Given the description of an element on the screen output the (x, y) to click on. 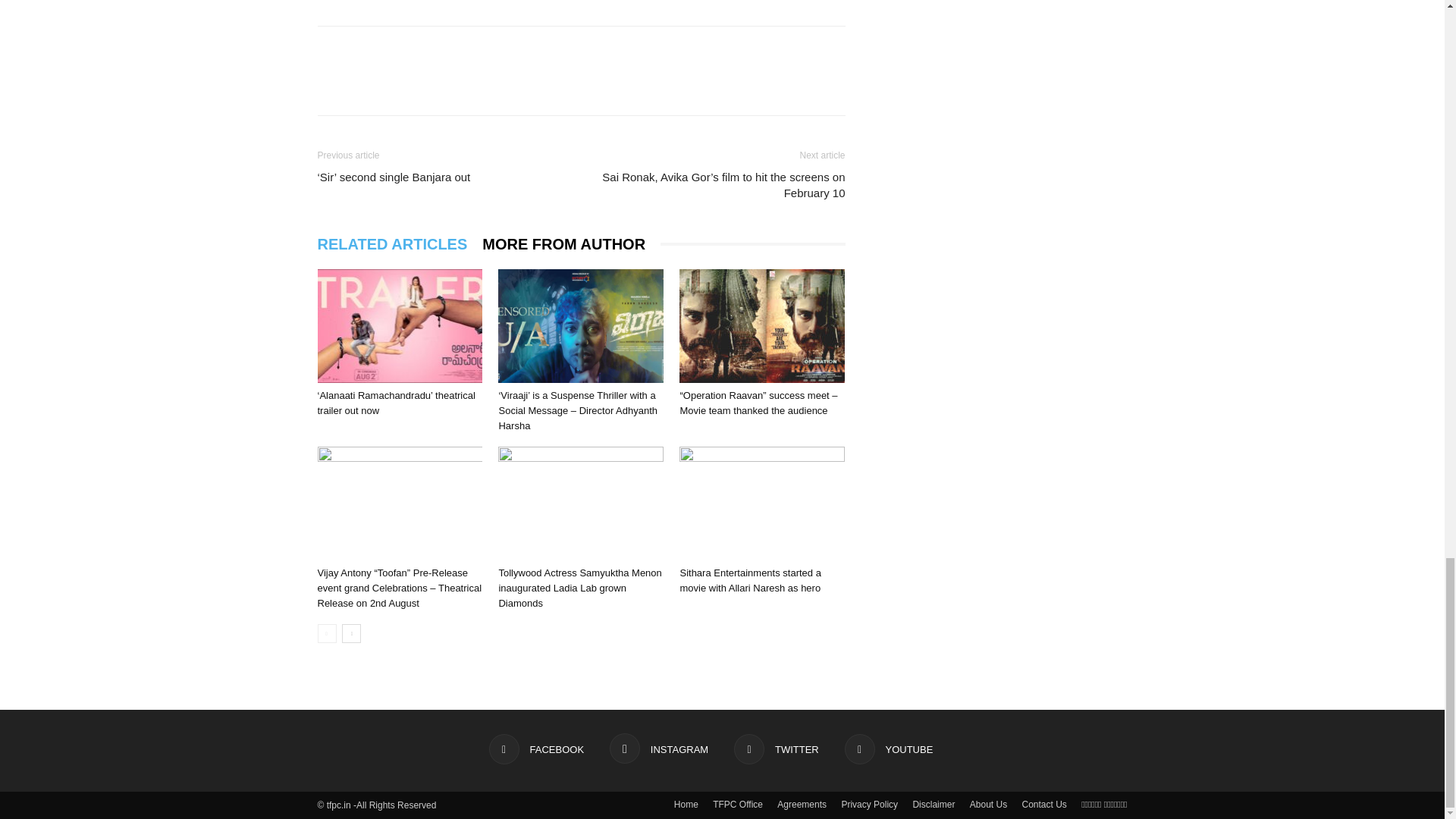
bottomFacebookLike (430, 50)
